Given the description of an element on the screen output the (x, y) to click on. 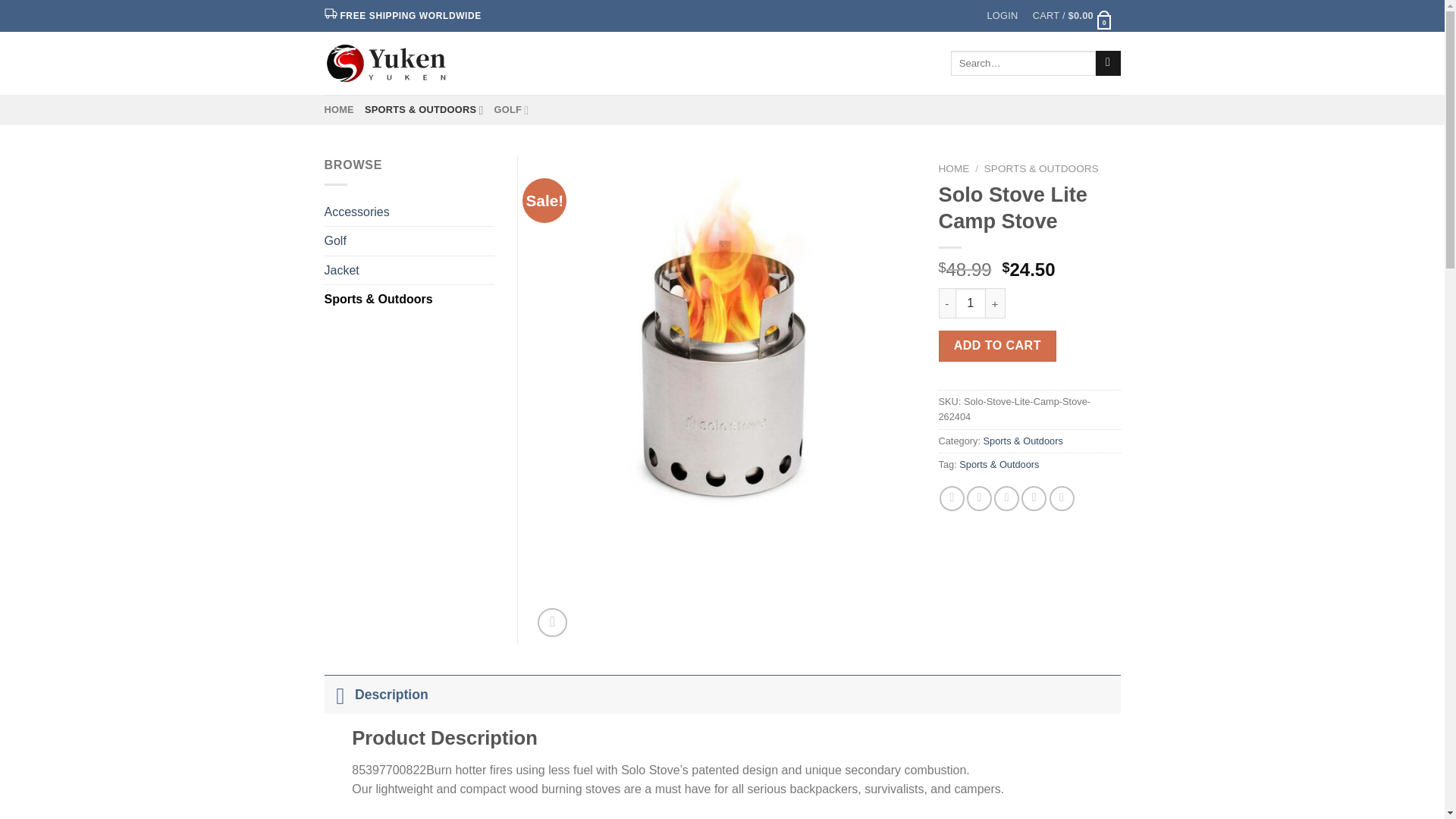
Jacket (409, 270)
Email to a Friend (1006, 498)
HOME (954, 168)
Pin on Pinterest (1034, 498)
Cart (1072, 15)
Share on LinkedIn (1061, 498)
HOME (338, 110)
Search (1108, 63)
ADD TO CART (998, 345)
Description (722, 693)
Share on Facebook (951, 498)
Accessories (409, 212)
GOLF (510, 110)
OUTDOORTOOLBESTPRICE (388, 62)
LOGIN (1002, 15)
